Given the description of an element on the screen output the (x, y) to click on. 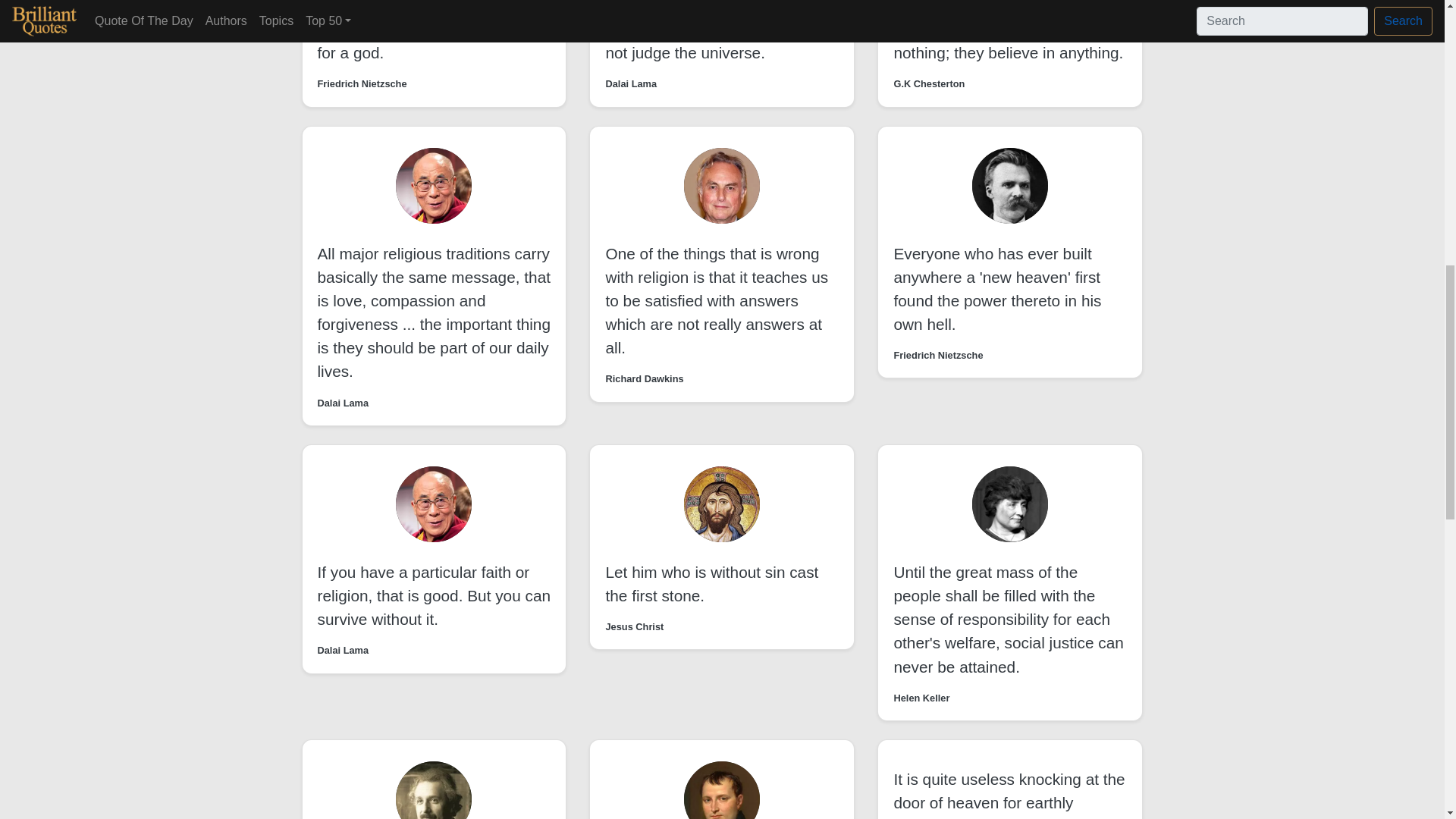
Friedrich Nietzsche (361, 83)
Dalai Lama (342, 402)
Dalai Lama (630, 83)
Friedrich Nietzsche (937, 355)
G.K Chesterton (928, 83)
Richard Dawkins (643, 378)
Dalai Lama (342, 649)
